Given the description of an element on the screen output the (x, y) to click on. 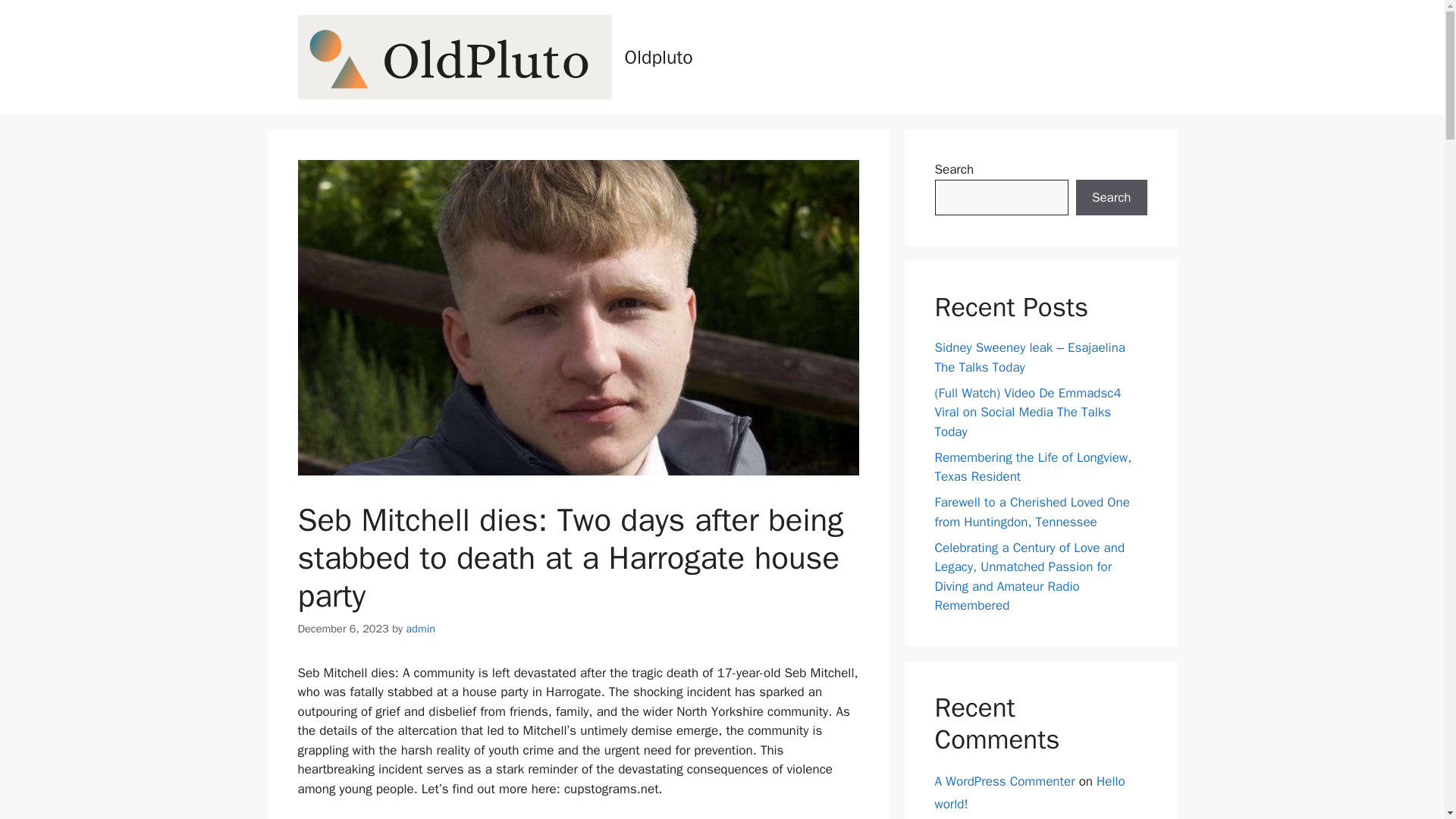
A WordPress Commenter (1004, 781)
Hello world! (1029, 793)
Oldpluto (658, 56)
View all posts by admin (420, 628)
Search (1111, 197)
Farewell to a Cherished Loved One from Huntingdon, Tennessee (1031, 511)
Remembering the Life of Longview, Texas Resident (1032, 466)
admin (420, 628)
